Given the description of an element on the screen output the (x, y) to click on. 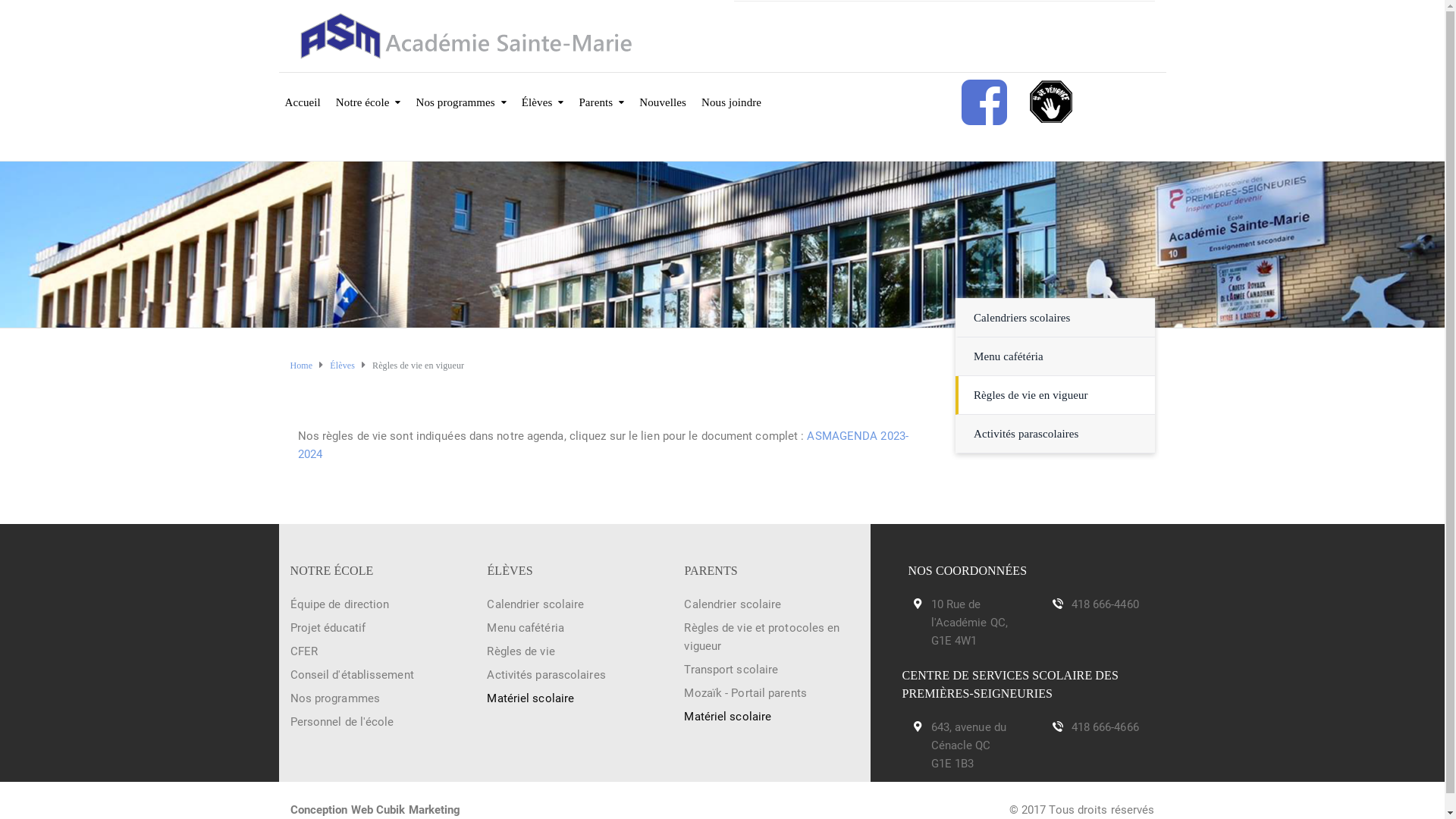
Calendrier scolaire Element type: text (534, 604)
CFER Element type: text (302, 651)
Calendrier scolaire Element type: text (732, 604)
Nos programmes Element type: text (334, 698)
Nos programmes Element type: text (460, 91)
Home Element type: text (300, 365)
Nous joindre Element type: text (731, 91)
Parents Element type: text (601, 91)
418 666-4666 Element type: text (1104, 727)
Accueil Element type: text (302, 91)
418 666-4460 Element type: text (1104, 604)
Nouvelles Element type: text (662, 91)
Calendriers scolaires Element type: text (1021, 317)
ASMAGENDA 2023-2024 Element type: text (602, 445)
Transport scolaire Element type: text (731, 669)
